Given the description of an element on the screen output the (x, y) to click on. 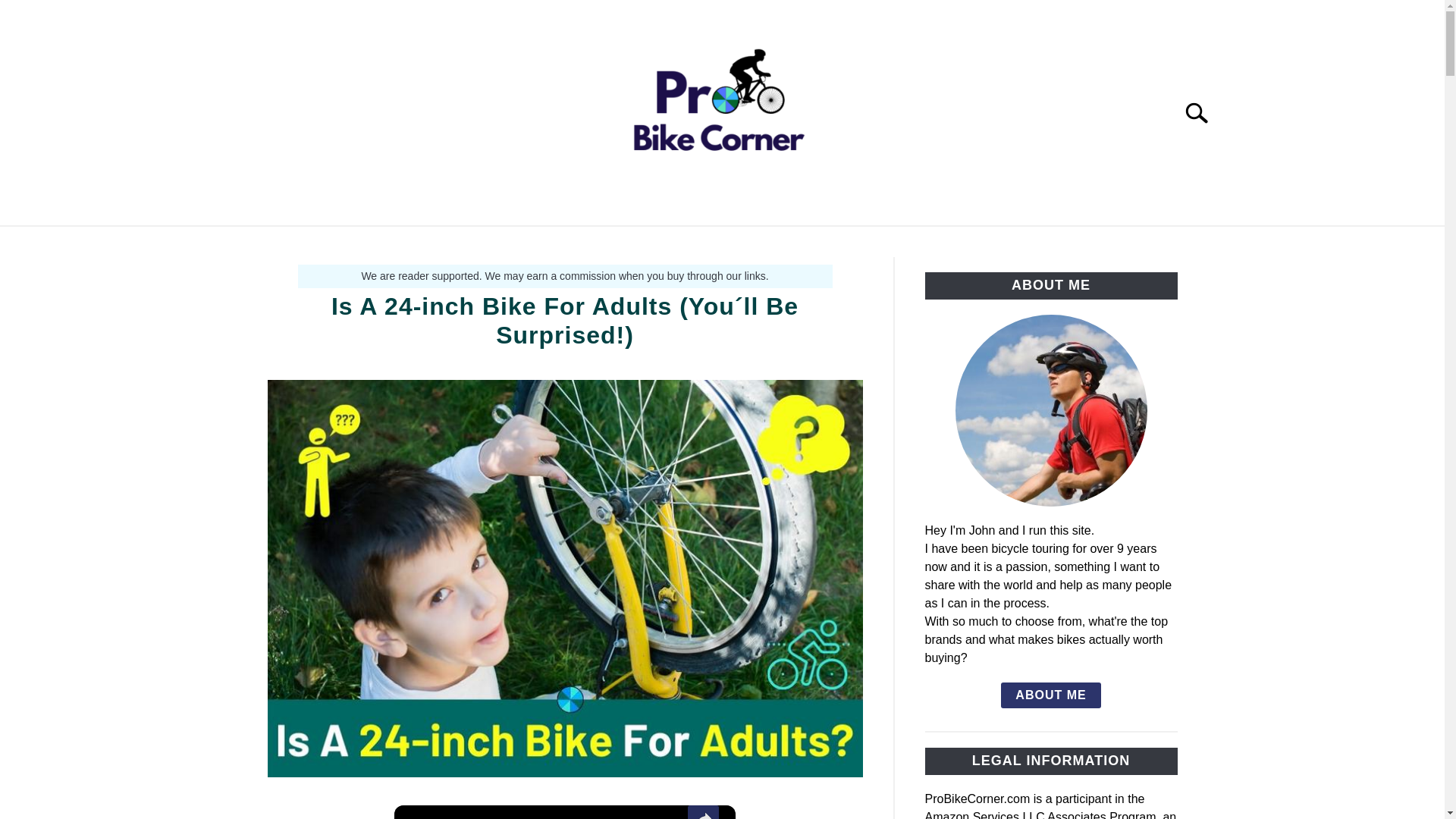
BIKE GUIDE (566, 243)
Search (1203, 112)
Share (703, 812)
share (703, 812)
SIZE GUIDE (674, 243)
